Given the description of an element on the screen output the (x, y) to click on. 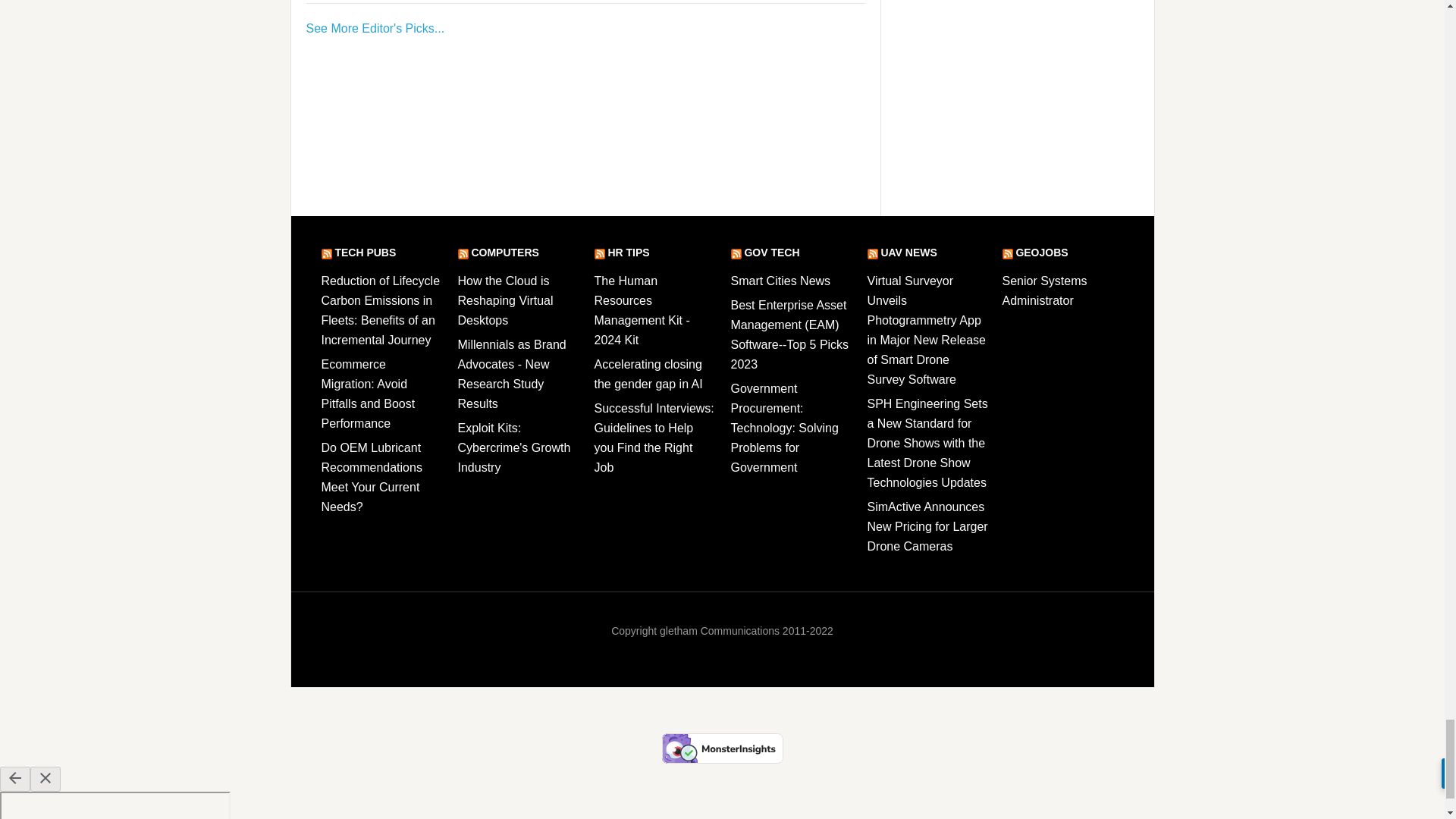
See More Editor's Picks... (375, 28)
Verified by MonsterInsights (722, 748)
3rd party ad content (582, 120)
FrontPage Leader (375, 28)
